Given the description of an element on the screen output the (x, y) to click on. 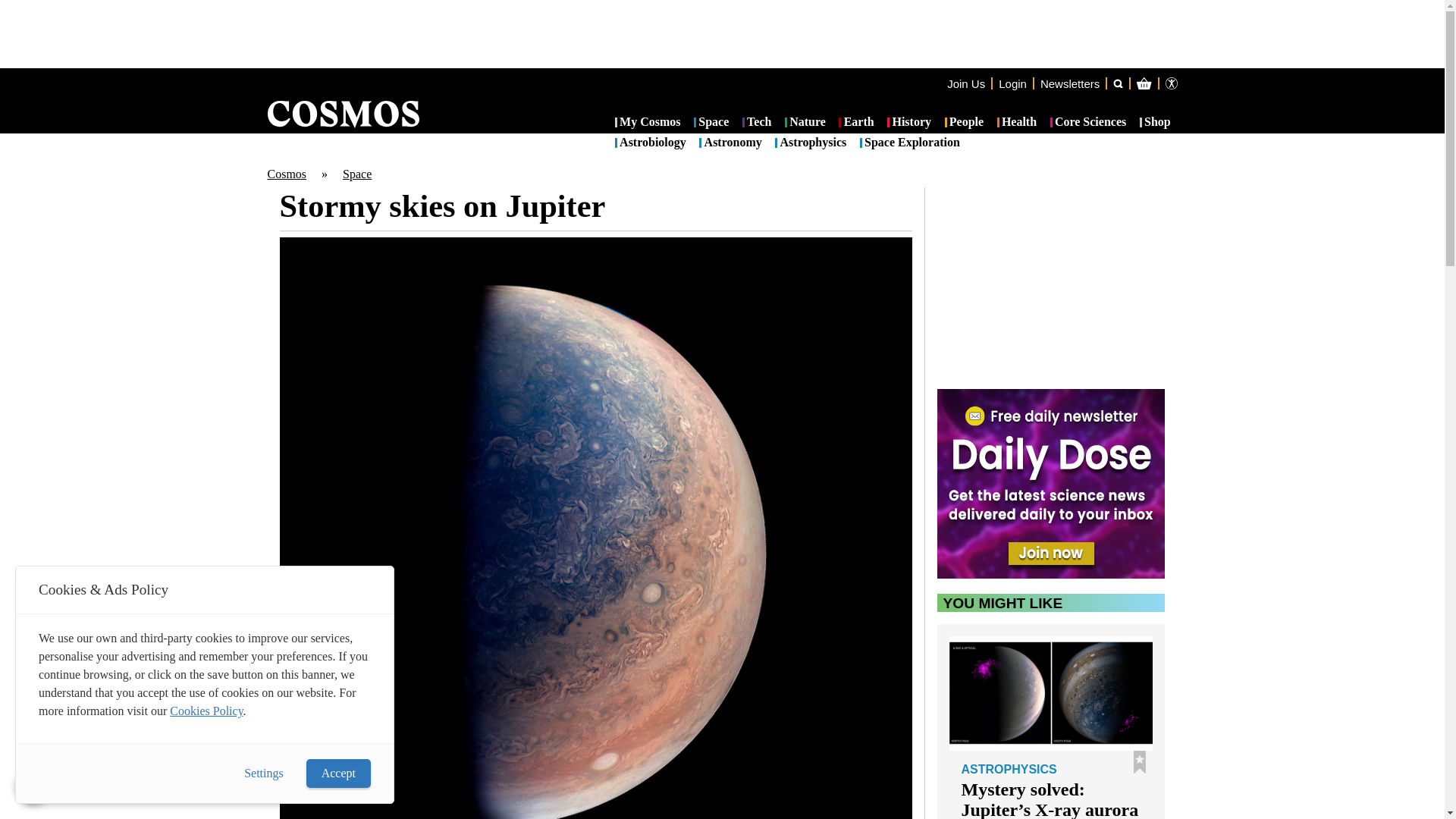
Astrophysics (809, 143)
Space (356, 173)
Space Exploration (909, 143)
History (908, 122)
People (964, 122)
Cosmos (285, 173)
Newsletters (1070, 82)
Shop (1155, 122)
Astrobiology (649, 143)
Core Sciences (1087, 122)
Login (1012, 82)
Cart (1223, 144)
Tech (756, 122)
Astronomy (729, 143)
Nature (804, 122)
